Given the description of an element on the screen output the (x, y) to click on. 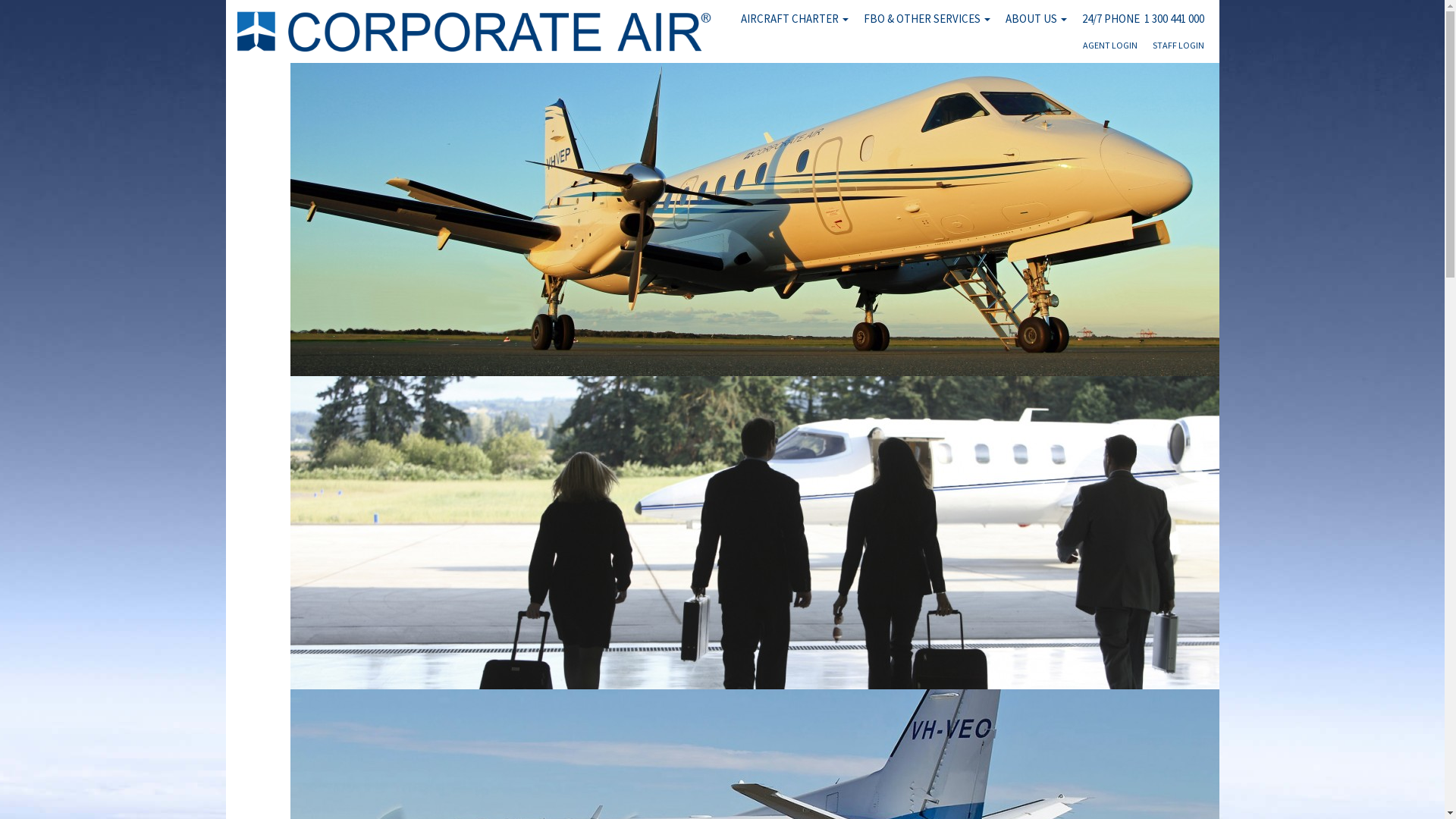
AIRCRAFT CHARTER Element type: text (793, 18)
AGENT LOGIN Element type: text (1110, 48)
STAFF LOGIN Element type: text (1178, 48)
ABOUT US Element type: text (1035, 18)
FBO & OTHER SERVICES Element type: text (926, 18)
